Given the description of an element on the screen output the (x, y) to click on. 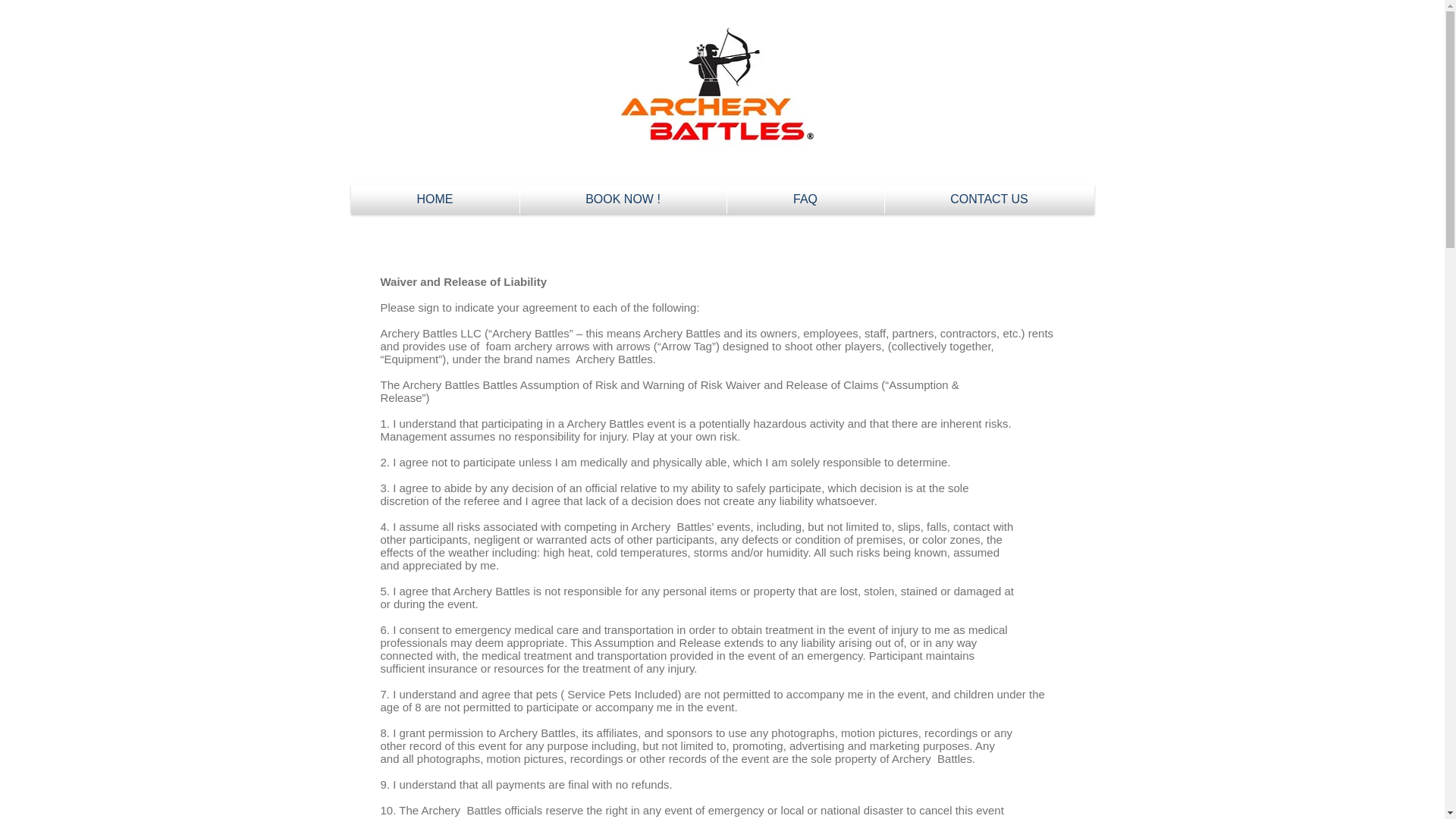
HOME (434, 198)
FAQ (807, 201)
FAQ (804, 198)
BOOK NOW ! (622, 198)
BOOK NOW ! (624, 201)
HOME (436, 201)
CONTACT US (988, 198)
CONTACT US (990, 201)
